Given the description of an element on the screen output the (x, y) to click on. 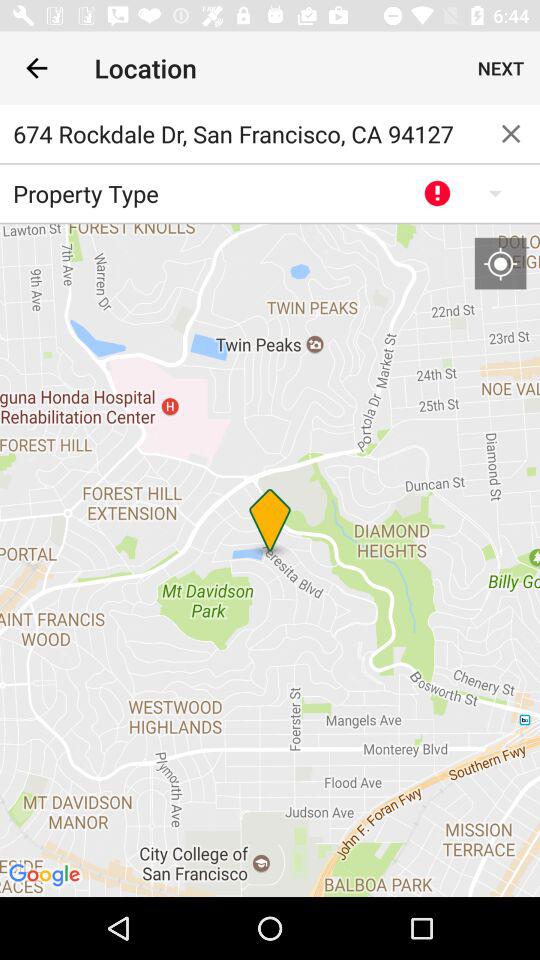
get current location (500, 263)
